Given the description of an element on the screen output the (x, y) to click on. 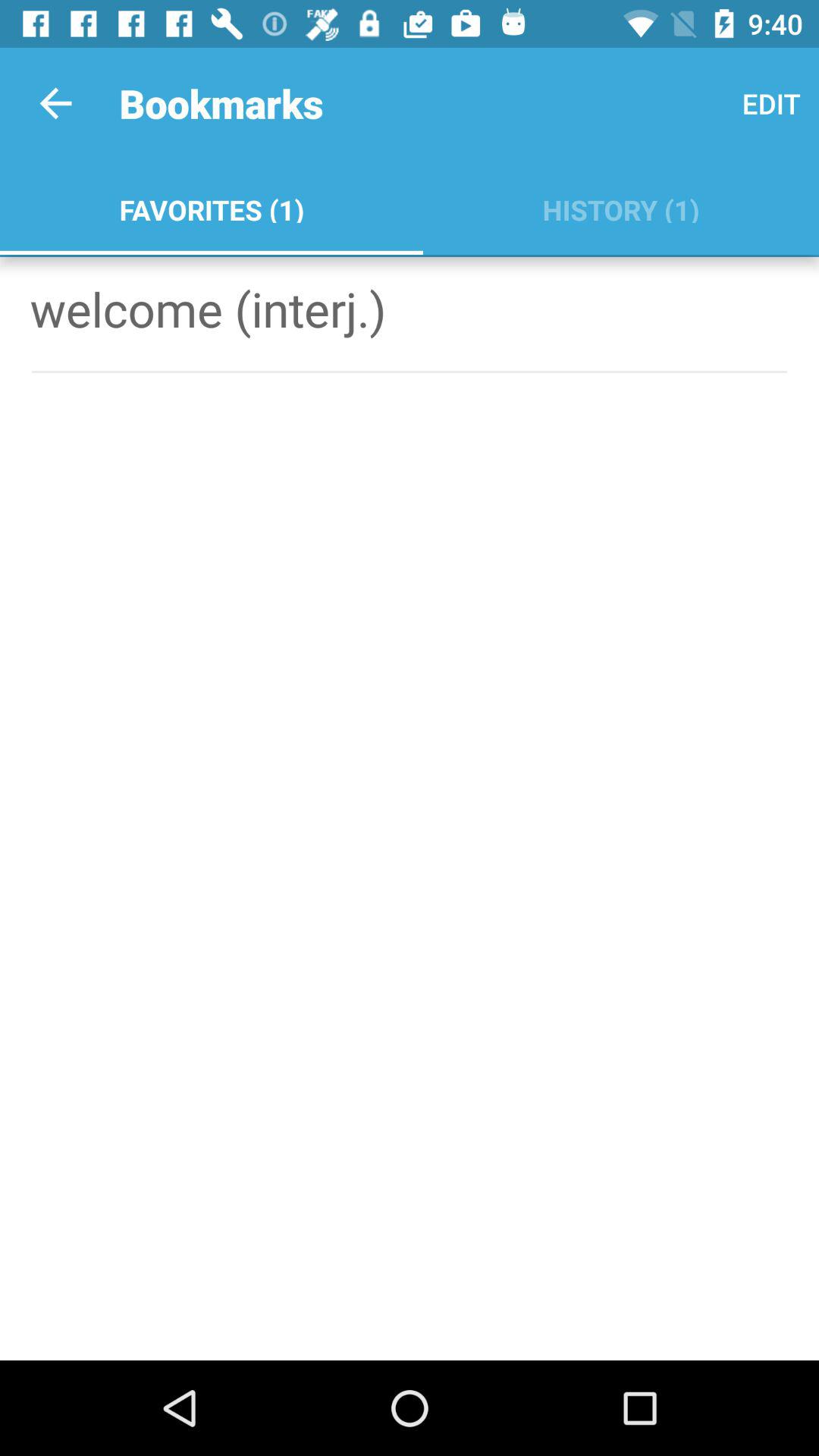
jump until edit icon (771, 103)
